Given the description of an element on the screen output the (x, y) to click on. 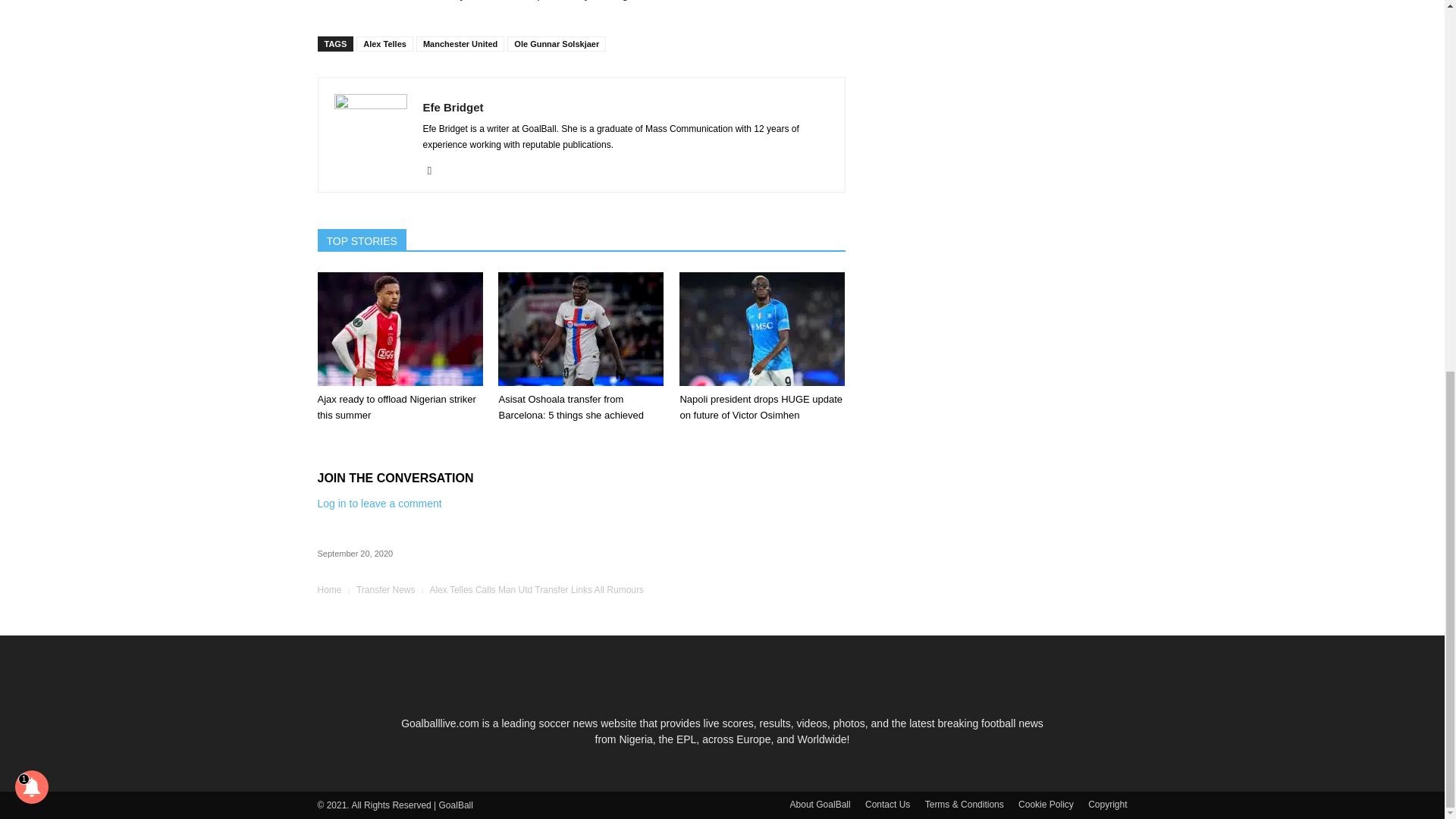
Twitter (435, 170)
Ajax ready to offload Nigerian striker this summer (396, 406)
Ajax ready to offload Nigerian striker this summer (399, 328)
